Given the description of an element on the screen output the (x, y) to click on. 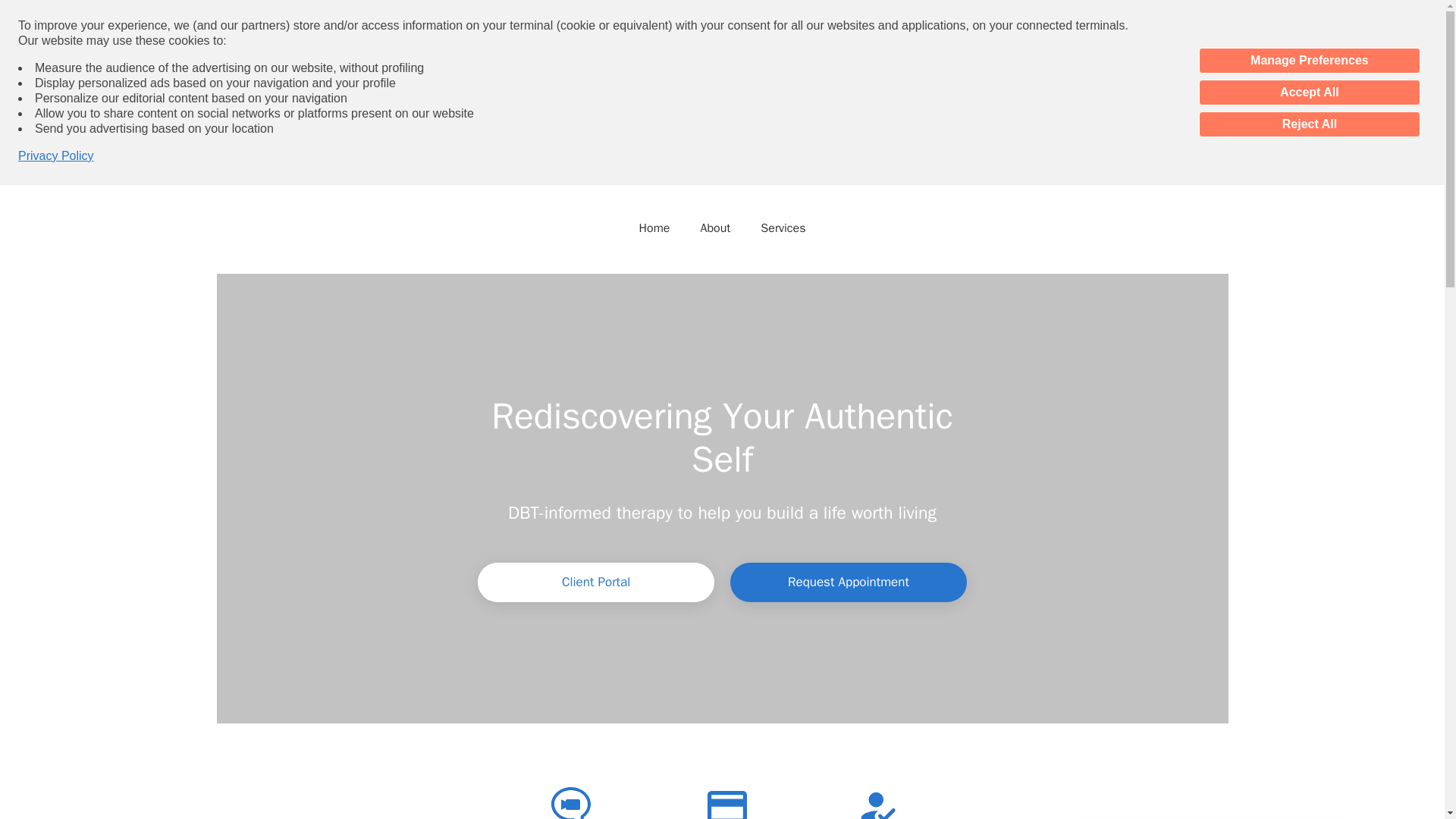
About (715, 227)
Contact (826, 170)
Reject All (1309, 124)
Privacy Policy (55, 155)
Home (654, 227)
703.997.9210 (731, 170)
Services (782, 227)
Manage Preferences (1309, 60)
Request Appointment (848, 581)
Accept All (1309, 92)
Client Portal (595, 581)
